Given the description of an element on the screen output the (x, y) to click on. 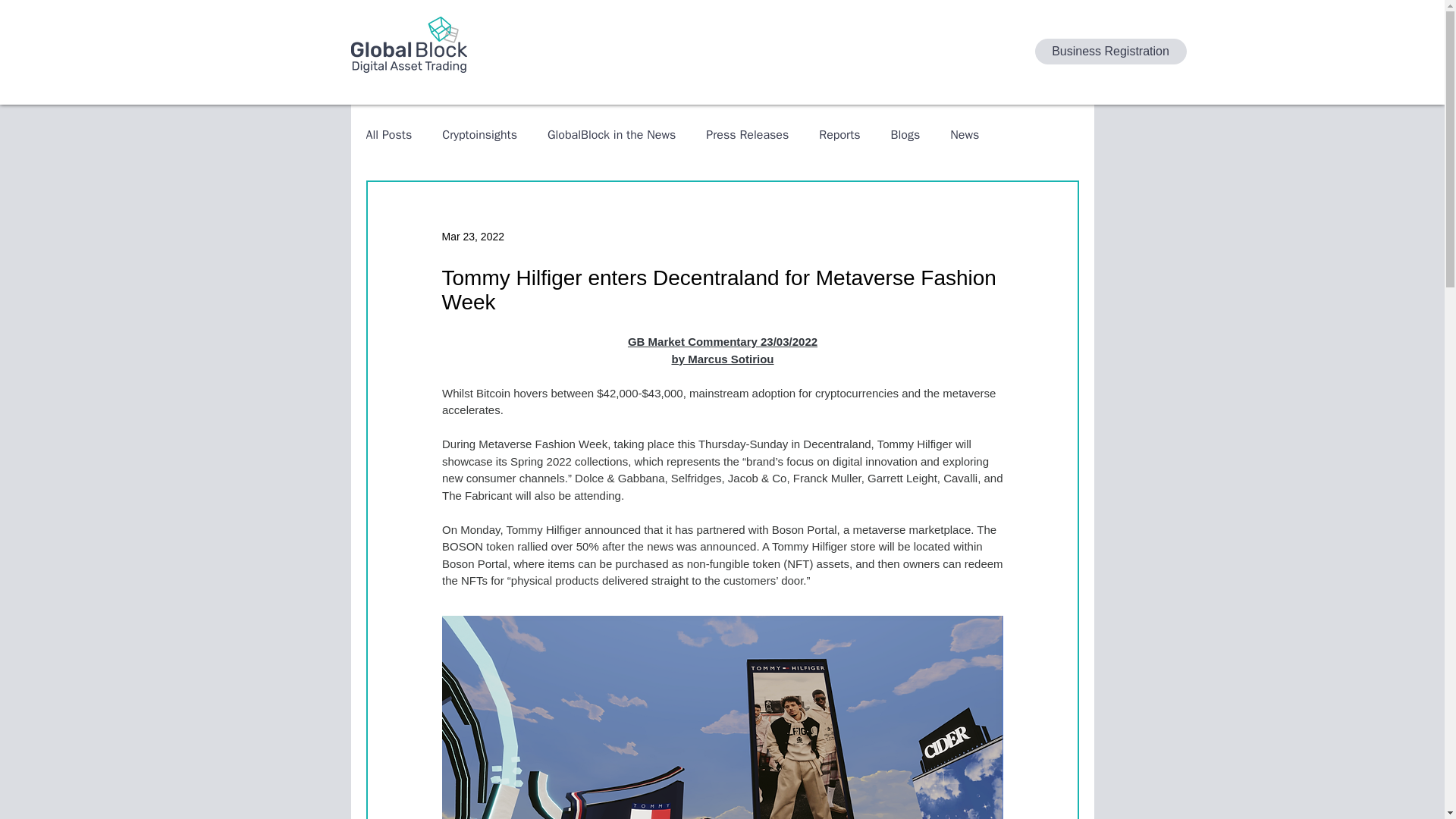
Blogs (905, 135)
Cryptoinsights (479, 135)
All Posts (388, 135)
Reports (839, 135)
GlobalBlock in the News (611, 135)
Press Releases (747, 135)
Mar 23, 2022 (472, 236)
News (964, 135)
Business Registration (1109, 51)
